Given the description of an element on the screen output the (x, y) to click on. 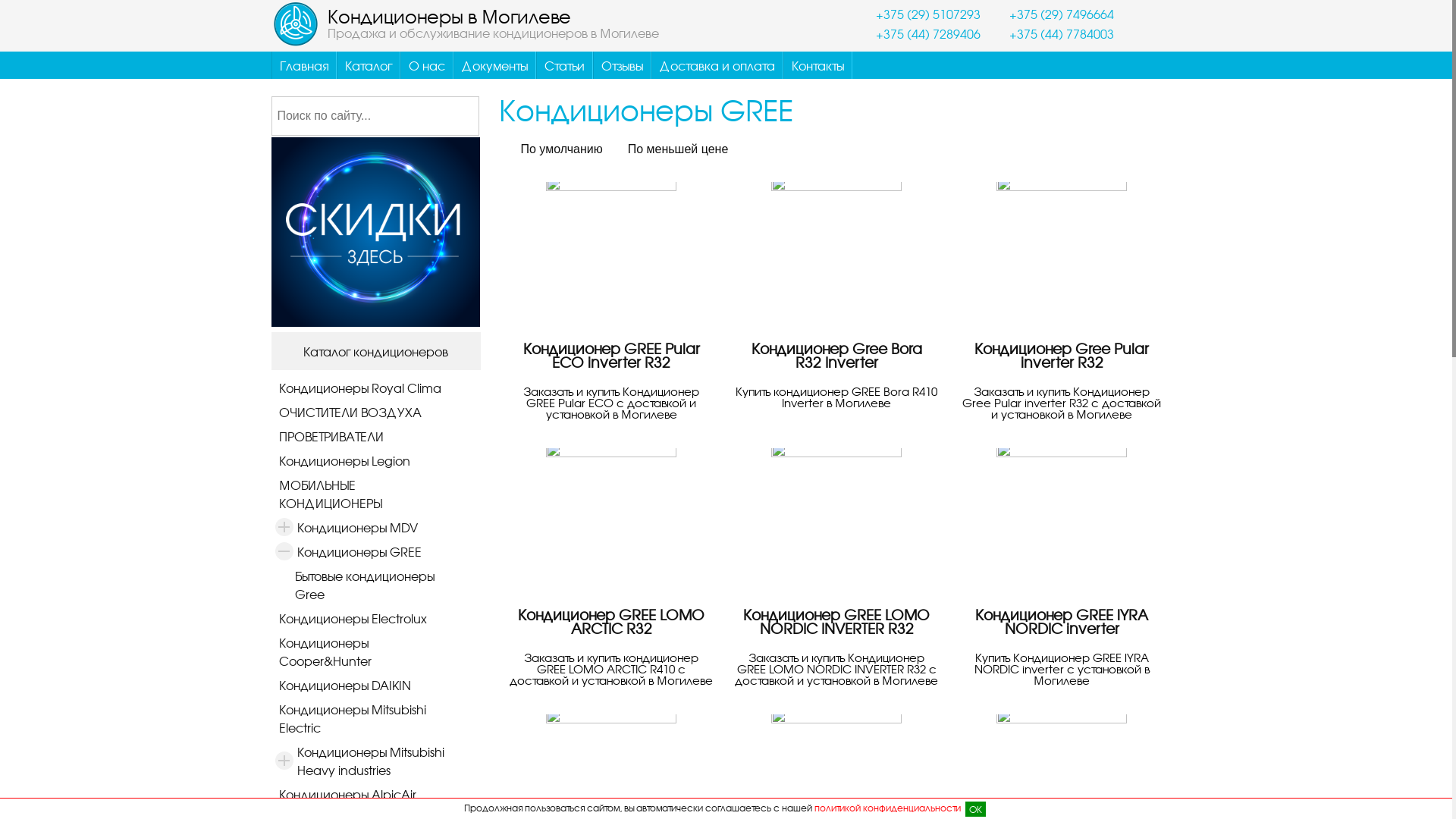
+375 (44) 7289406 Element type: text (916, 31)
+375 (29) 7496664 Element type: text (1050, 12)
+375 (29) 5107293 Element type: text (916, 12)
+375 (44) 7784003 Element type: text (1050, 31)
